Given the description of an element on the screen output the (x, y) to click on. 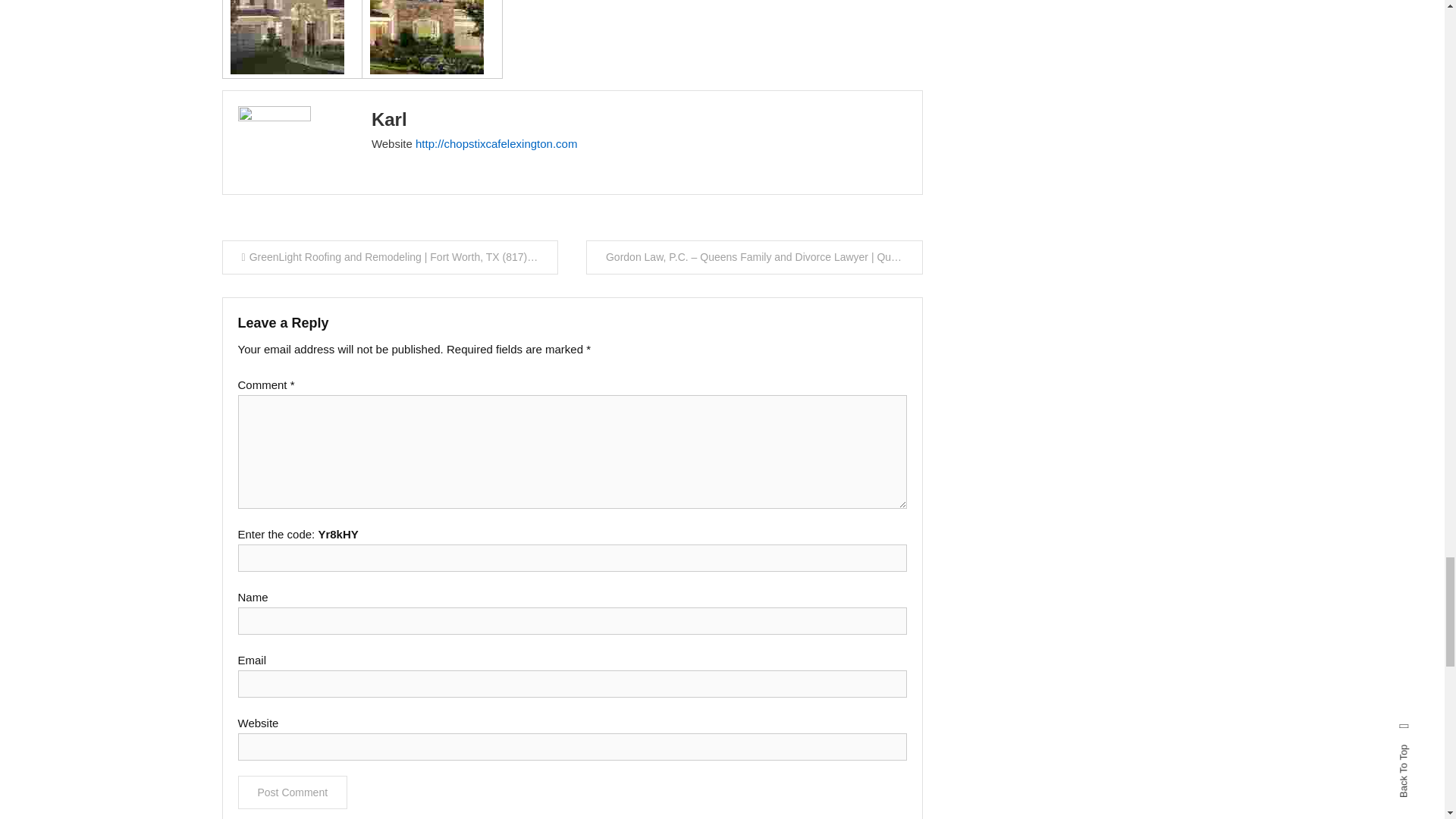
Tracy Alford Realtor (426, 37)
Posts by Karl (389, 118)
Post Comment (292, 792)
Tracy Alford Realtor (286, 37)
